Given the description of an element on the screen output the (x, y) to click on. 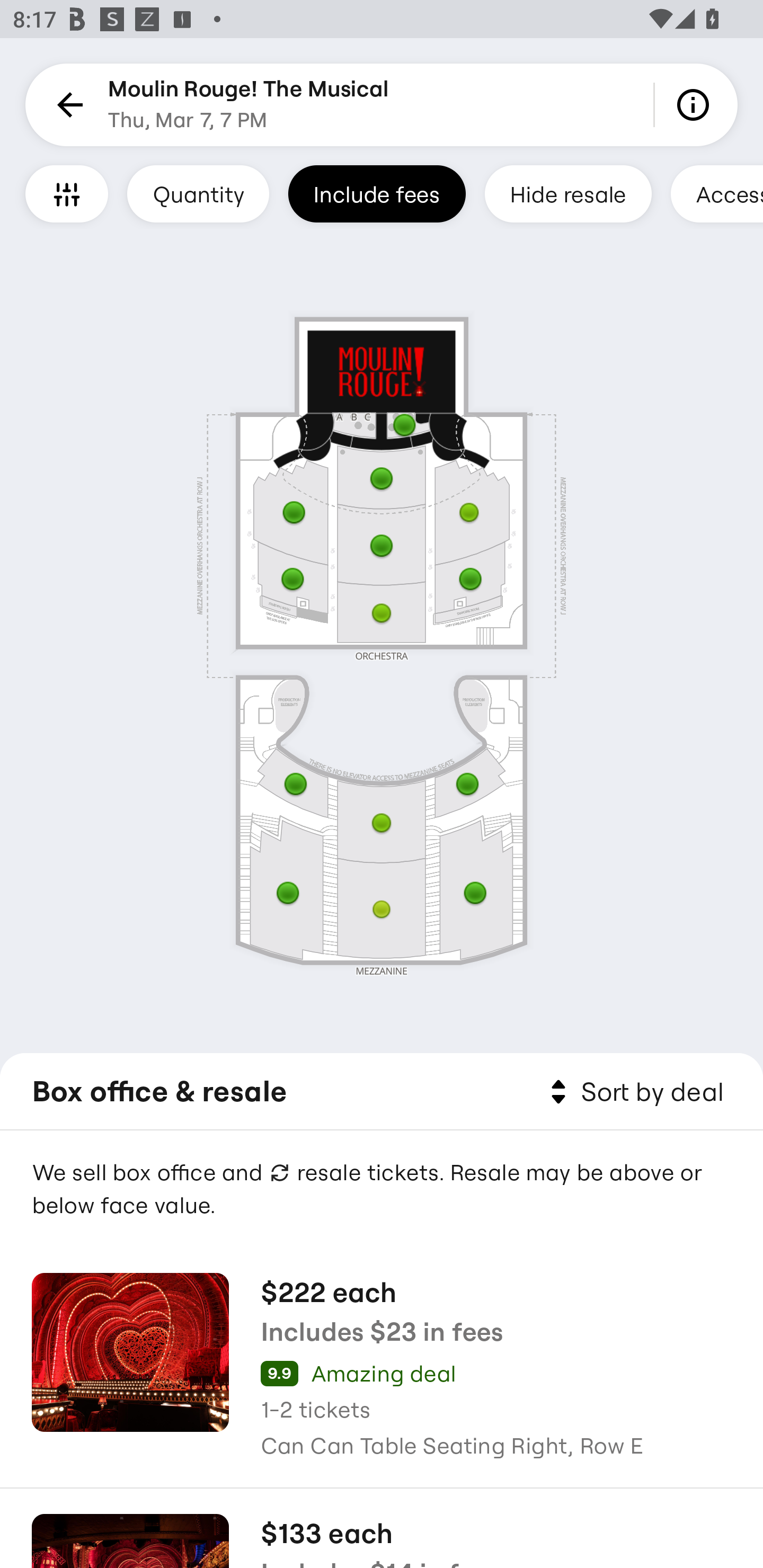
Back (66, 104)
Moulin Rouge! The Musical Thu, Mar 7, 7 PM (248, 104)
Info (695, 104)
Filters and Accessible Seating (66, 193)
Quantity (198, 193)
Include fees (376, 193)
Hide resale (567, 193)
Sort by deal (633, 1091)
